Given the description of an element on the screen output the (x, y) to click on. 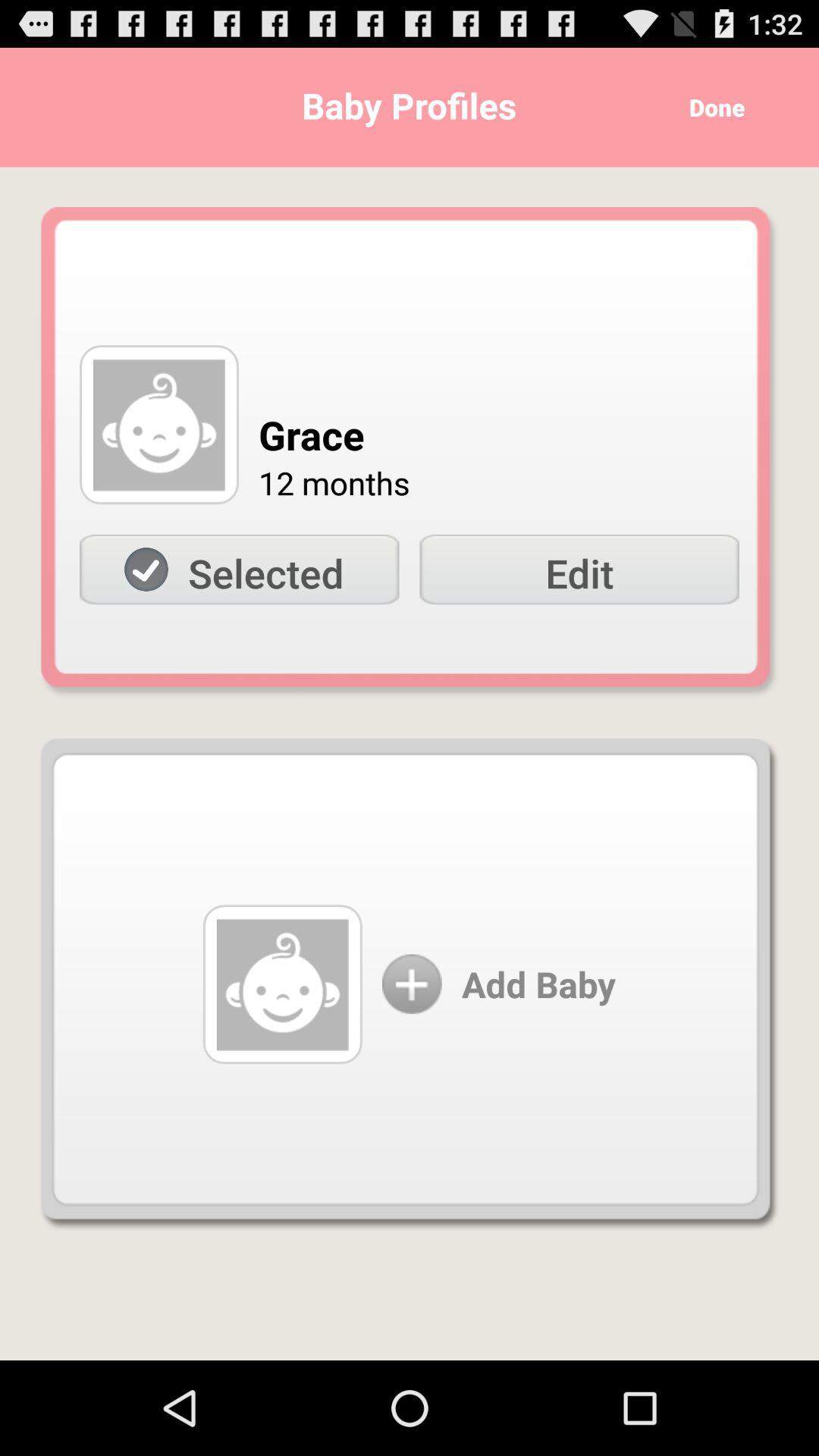
turn off icon below the done item (579, 569)
